Given the description of an element on the screen output the (x, y) to click on. 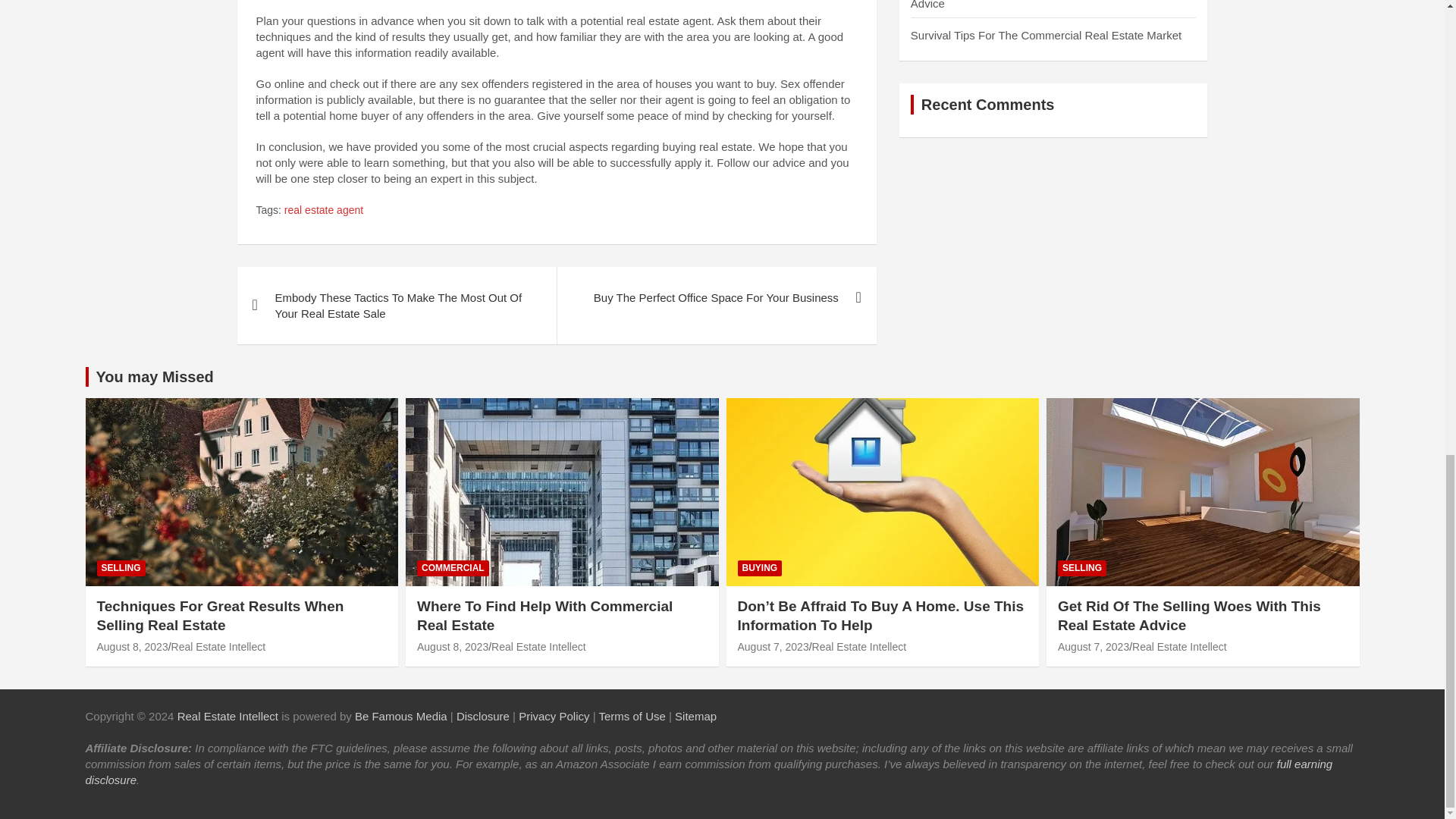
Techniques For Great Results When Selling Real Estate (132, 646)
Buy The Perfect Office Space For Your Business (716, 297)
August 8, 2023 (132, 646)
BUYING (758, 568)
Real Estate Intellect (227, 716)
Where To Find Help With Commercial Real Estate (544, 615)
Where To Find Help With Commercial Real Estate (451, 646)
August 8, 2023 (451, 646)
Real Estate Intellect (218, 646)
SELLING (121, 568)
August 7, 2023 (772, 646)
COMMERCIAL (452, 568)
Real Estate Intellect (859, 646)
Real Estate Intellect (539, 646)
